Given the description of an element on the screen output the (x, y) to click on. 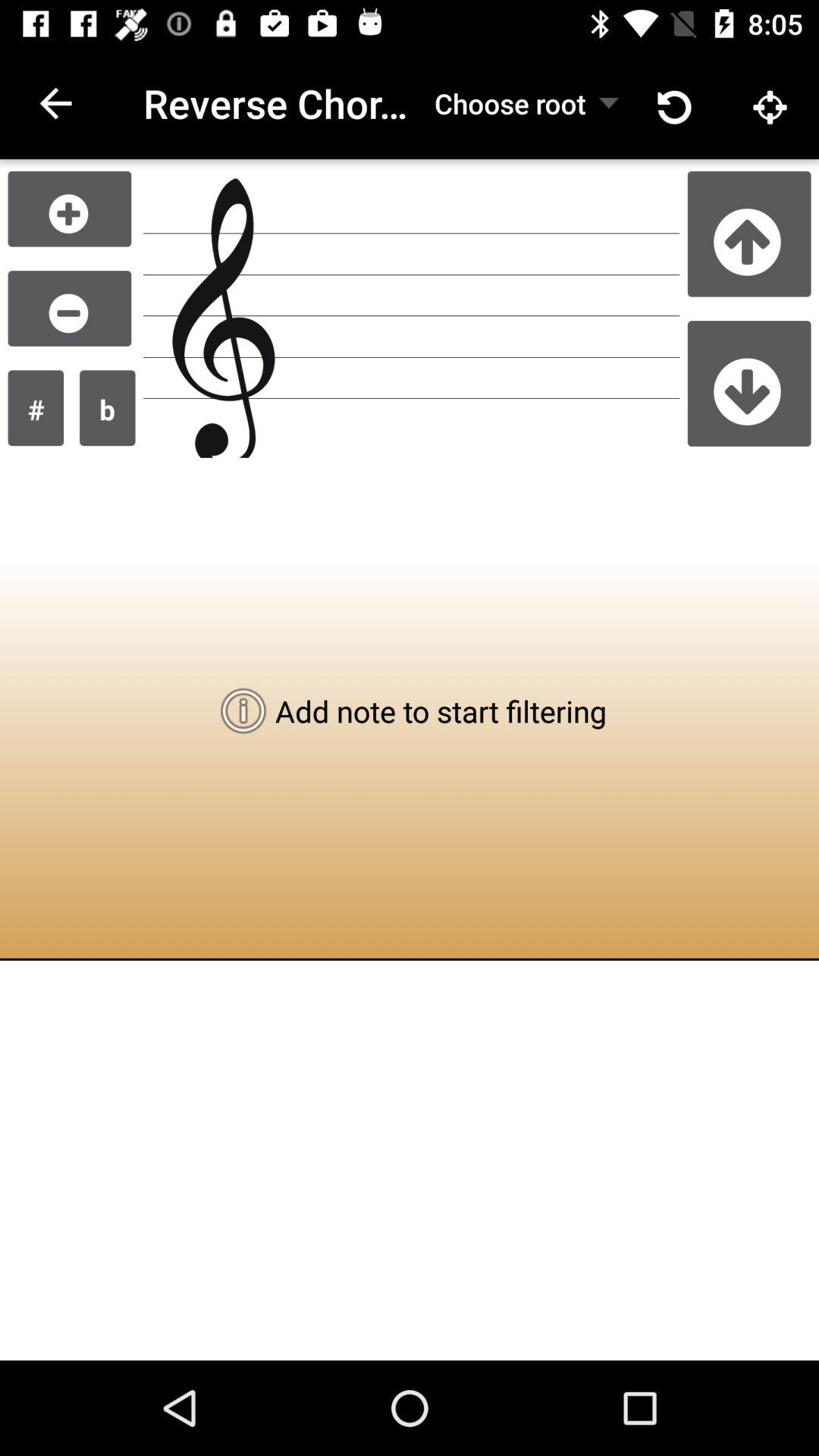
zoom out (69, 308)
